Given the description of an element on the screen output the (x, y) to click on. 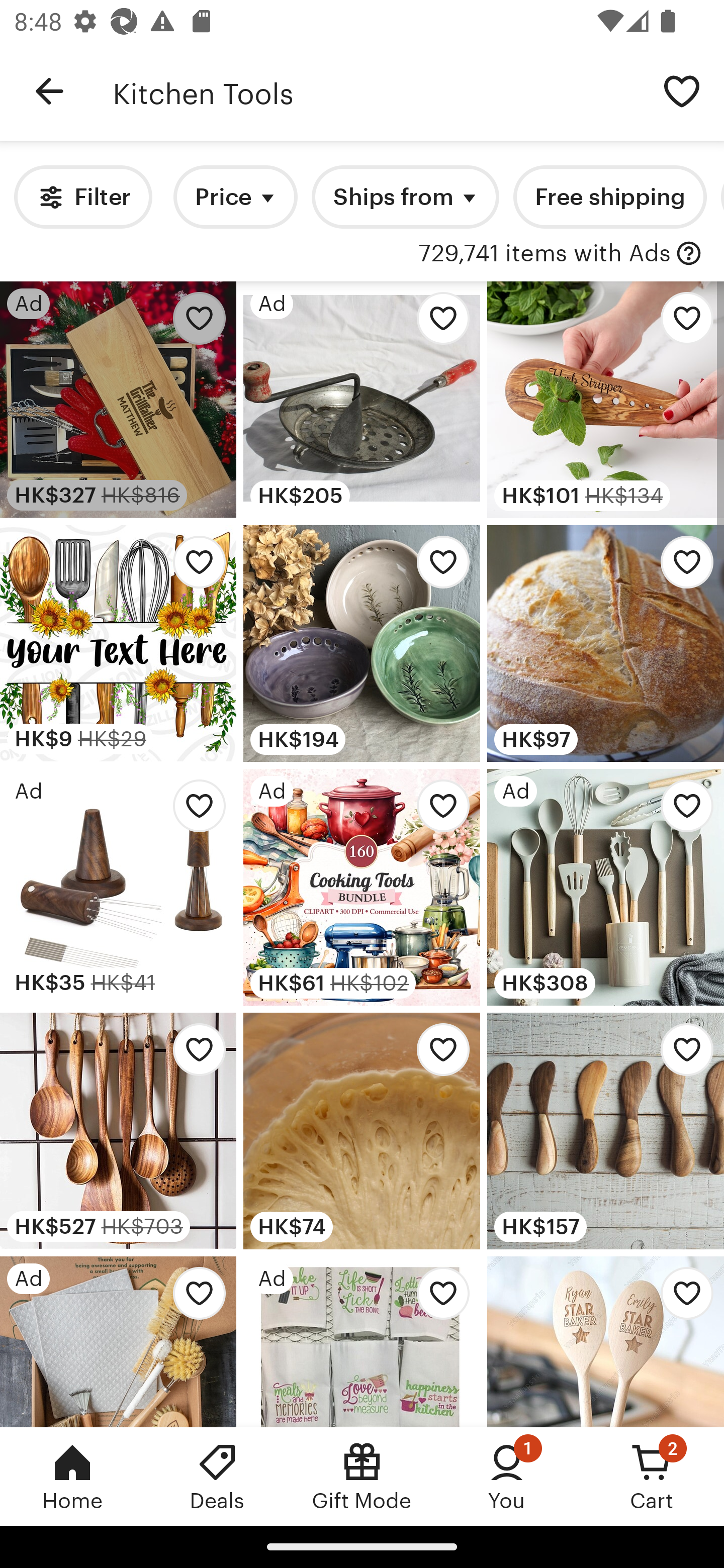
Navigate up (49, 91)
Save search (681, 90)
Kitchen Tools (375, 91)
Filter (82, 197)
Price (235, 197)
Ships from (405, 197)
Free shipping (609, 197)
729,741 items with Ads (544, 253)
with Ads (688, 253)
Deals (216, 1475)
Gift Mode (361, 1475)
You, 1 new notification You (506, 1475)
Cart, 2 new notifications Cart (651, 1475)
